Given the description of an element on the screen output the (x, y) to click on. 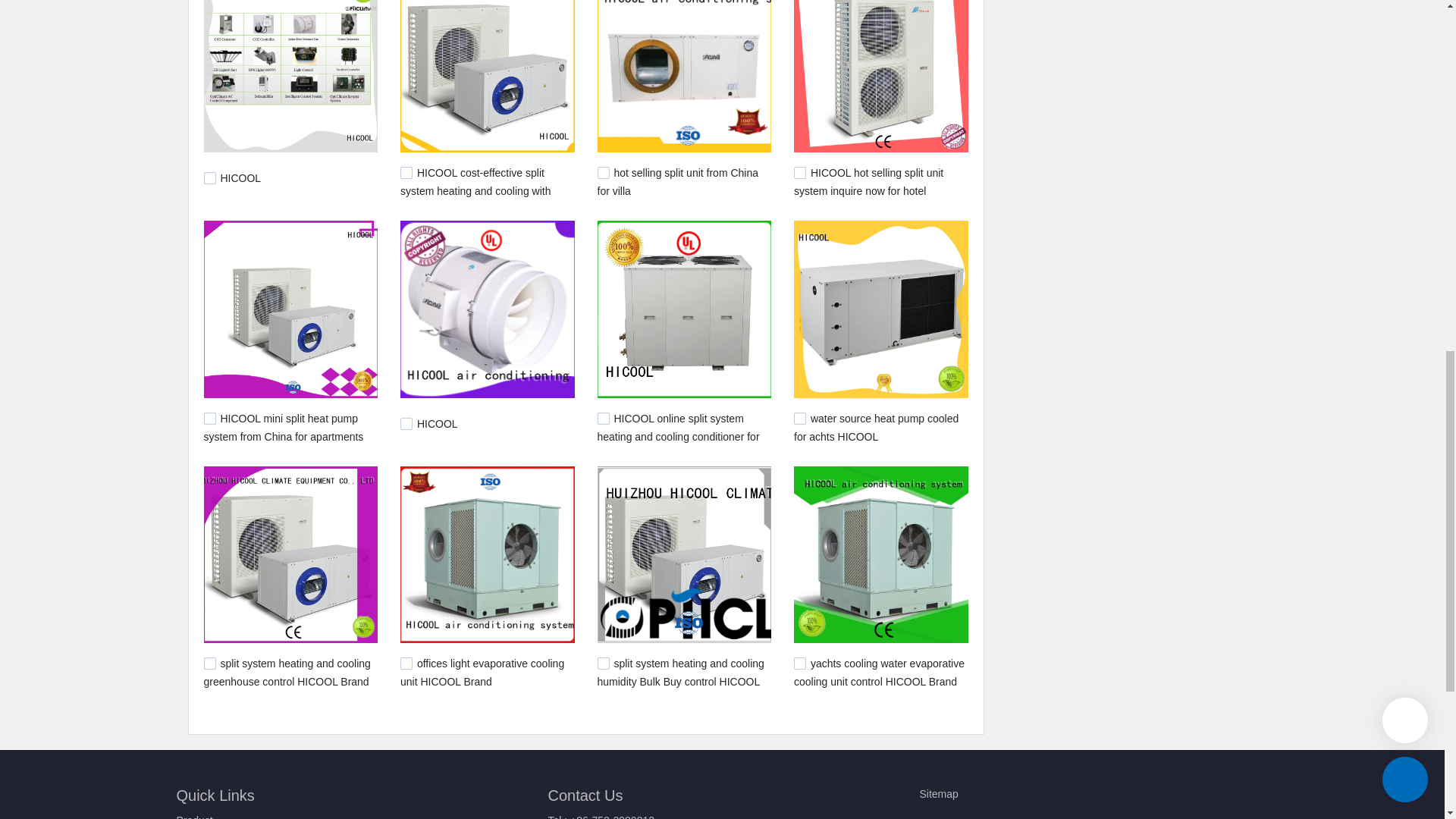
HICOOL mini split heat pump system from China for apartments (282, 427)
5831 (406, 173)
662 (603, 663)
743 (406, 663)
hot selling split unit from China for villa (677, 182)
HICOOL hot selling split unit system inquire now for hotel (868, 182)
HICOOL (239, 177)
offices light evaporative cooling unit HICOOL Brand (482, 672)
5815 (799, 173)
5696 (209, 418)
5676 (406, 423)
HICOOL (239, 177)
